Given the description of an element on the screen output the (x, y) to click on. 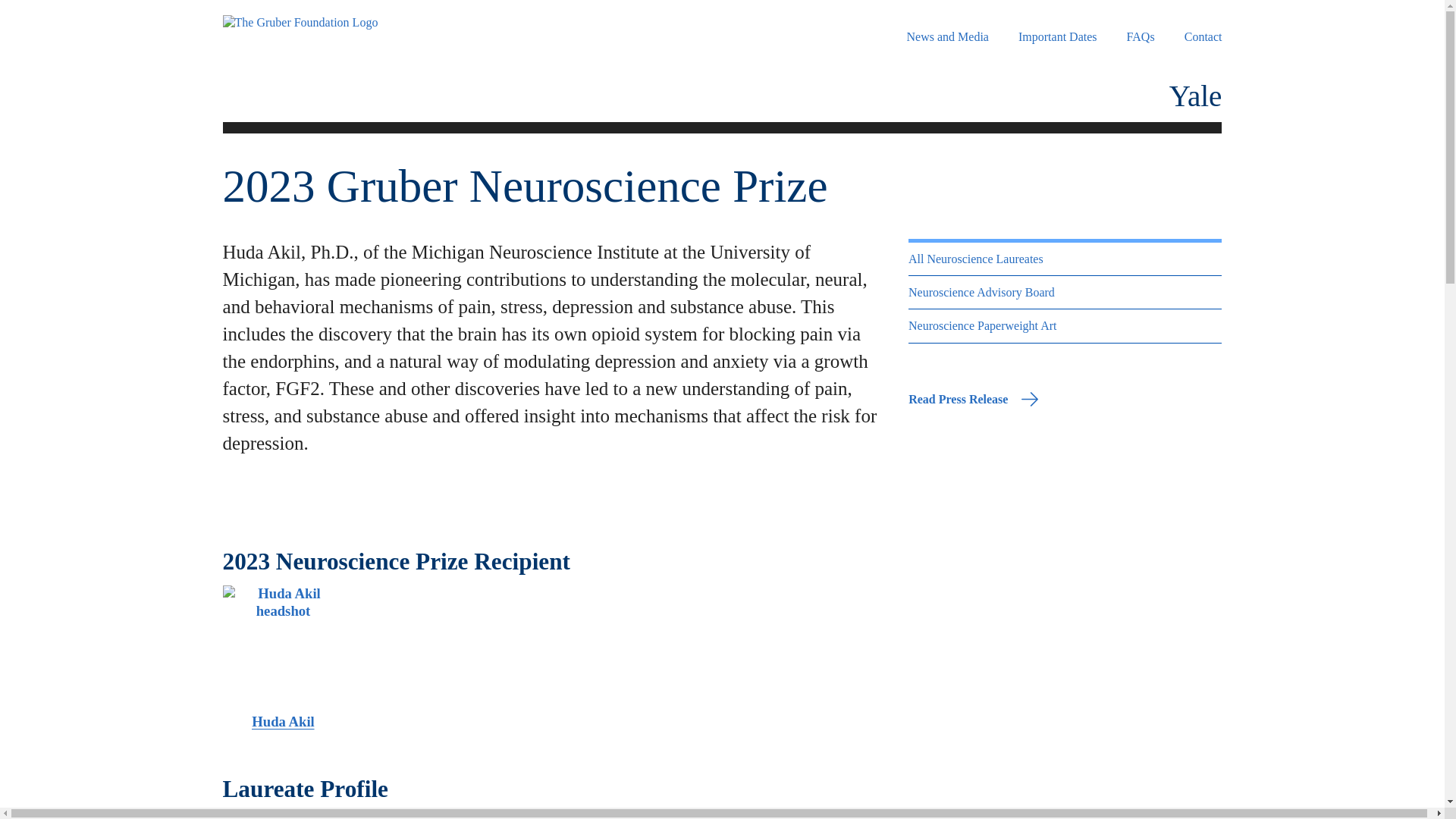
Important Dates (1057, 36)
Contact (1204, 36)
FAQs (1140, 36)
Home (330, 22)
News and Media (947, 36)
